Given the description of an element on the screen output the (x, y) to click on. 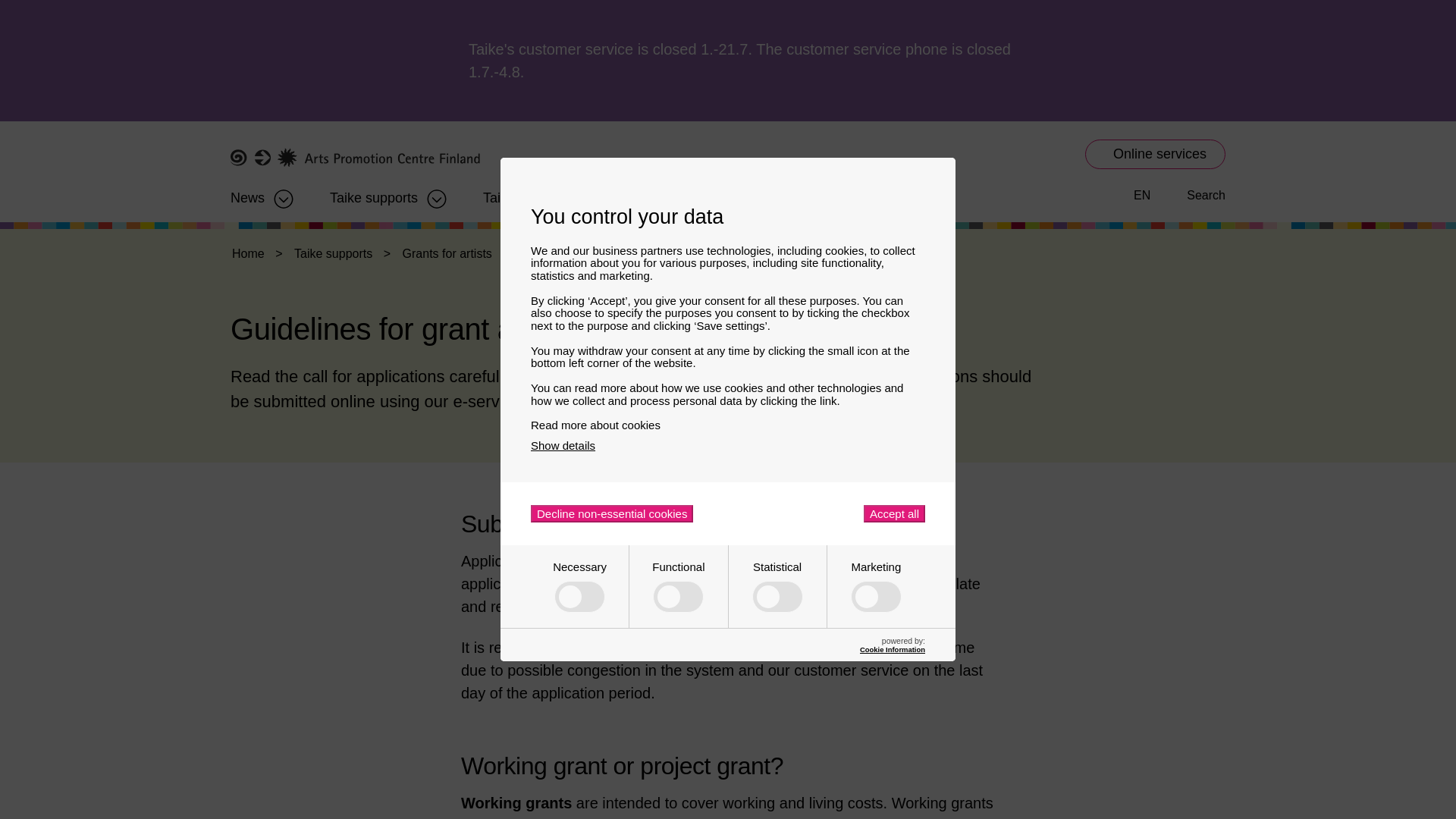
Home page (355, 157)
Cookie Information (892, 649)
Decline non-essential cookies (612, 513)
Accept all (893, 513)
Apurahat ja avustukset (373, 192)
Show details (563, 445)
Read more about cookies (727, 424)
